Given the description of an element on the screen output the (x, y) to click on. 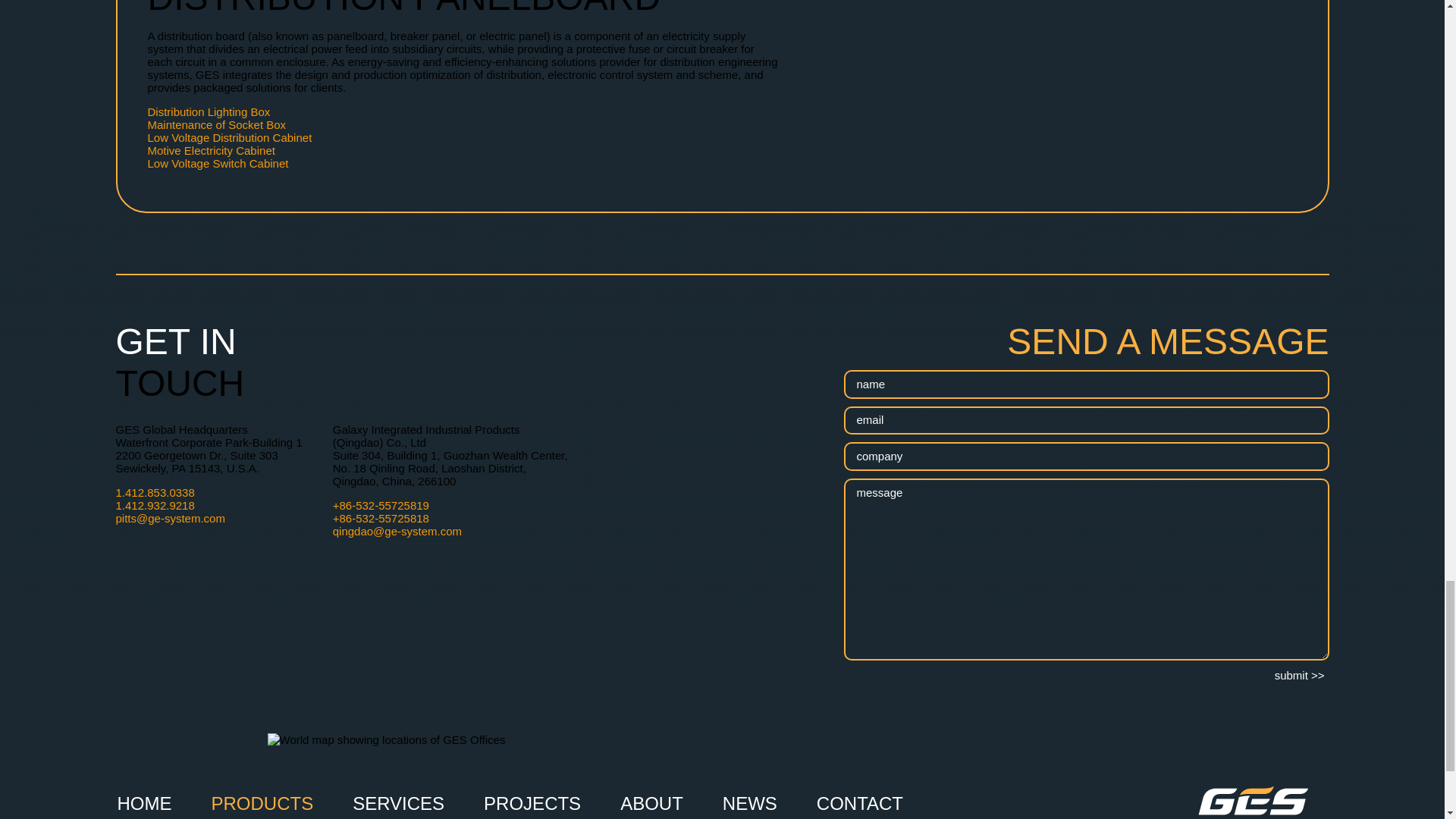
ABOUT (651, 802)
CONTACT (859, 802)
PROJECTS (531, 802)
1.412.853.0338 (154, 492)
PRODUCTS (261, 802)
NEWS (749, 802)
SERVICES (398, 802)
HOME (143, 802)
1.412.932.9218 (154, 504)
